Given the description of an element on the screen output the (x, y) to click on. 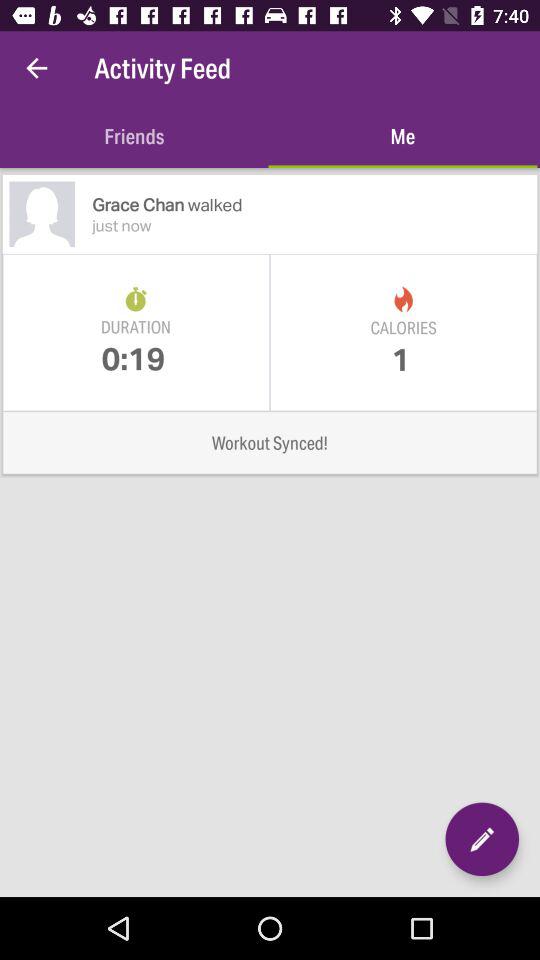
tap icon below friends (314, 204)
